Given the description of an element on the screen output the (x, y) to click on. 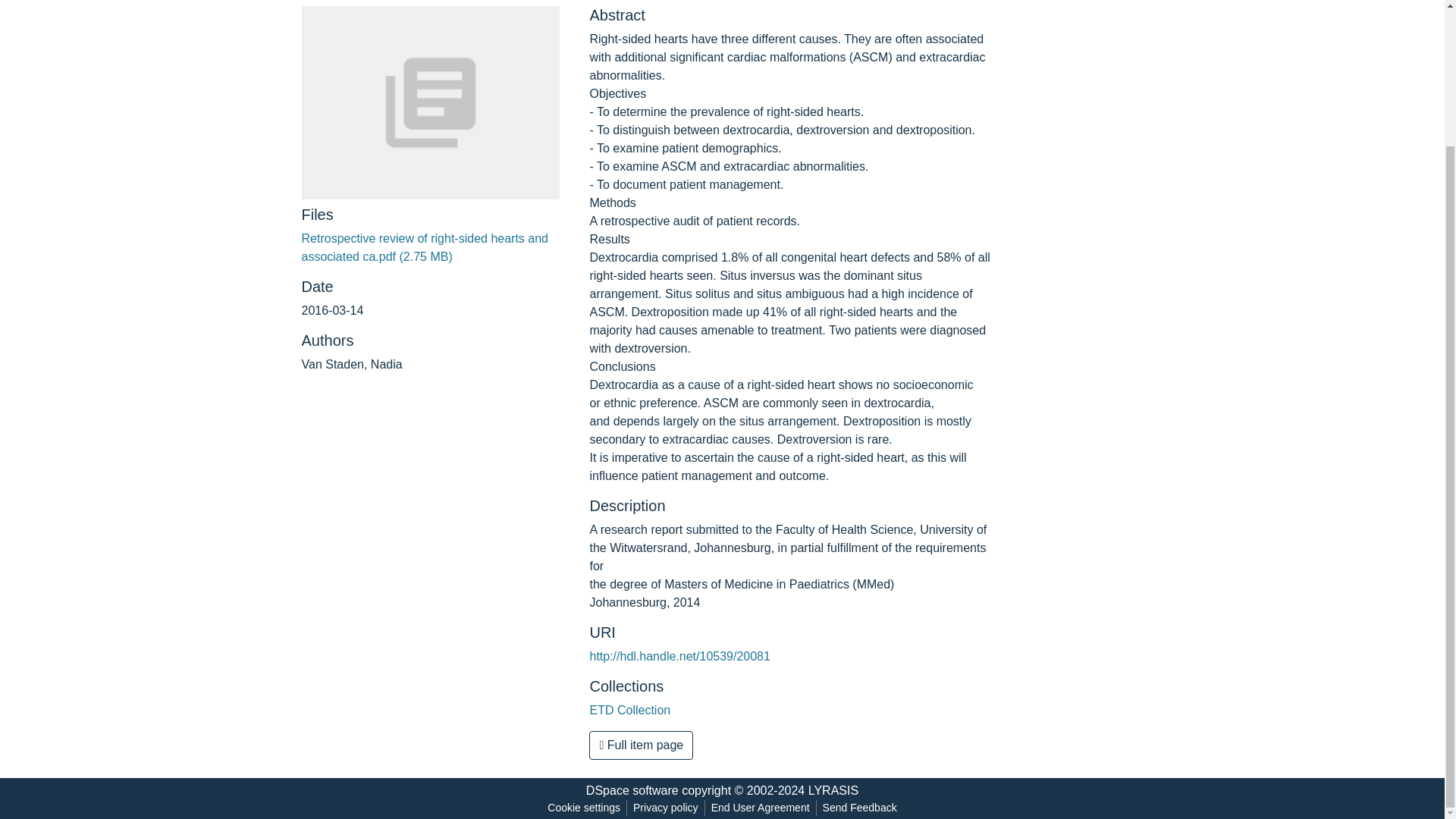
DSpace software (632, 789)
Send Feedback (859, 807)
LYRASIS (833, 789)
Cookie settings (583, 807)
Privacy policy (665, 807)
End User Agreement (759, 807)
Full item page (641, 745)
ETD Collection (629, 709)
